Given the description of an element on the screen output the (x, y) to click on. 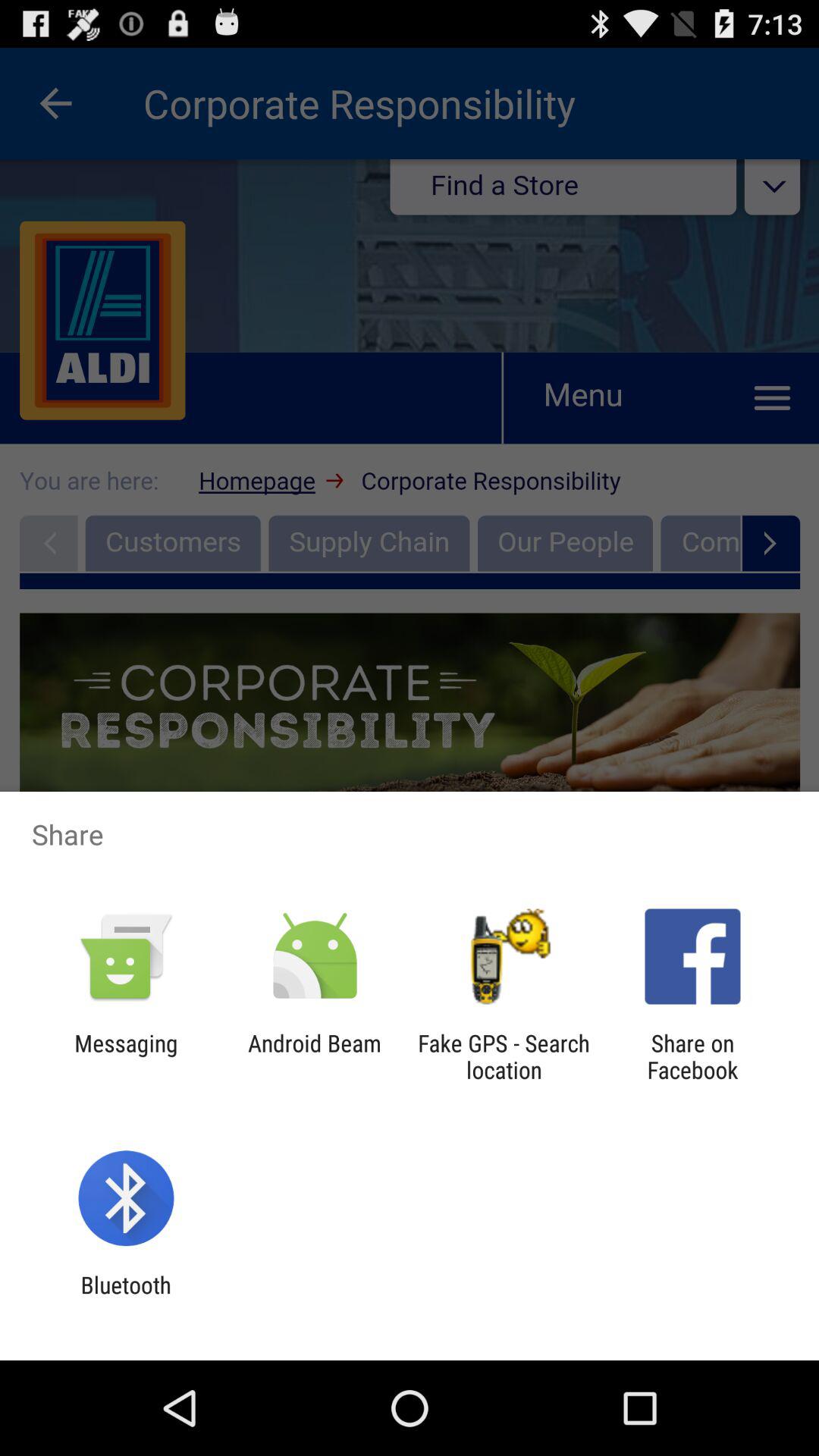
open fake gps search (503, 1056)
